Given the description of an element on the screen output the (x, y) to click on. 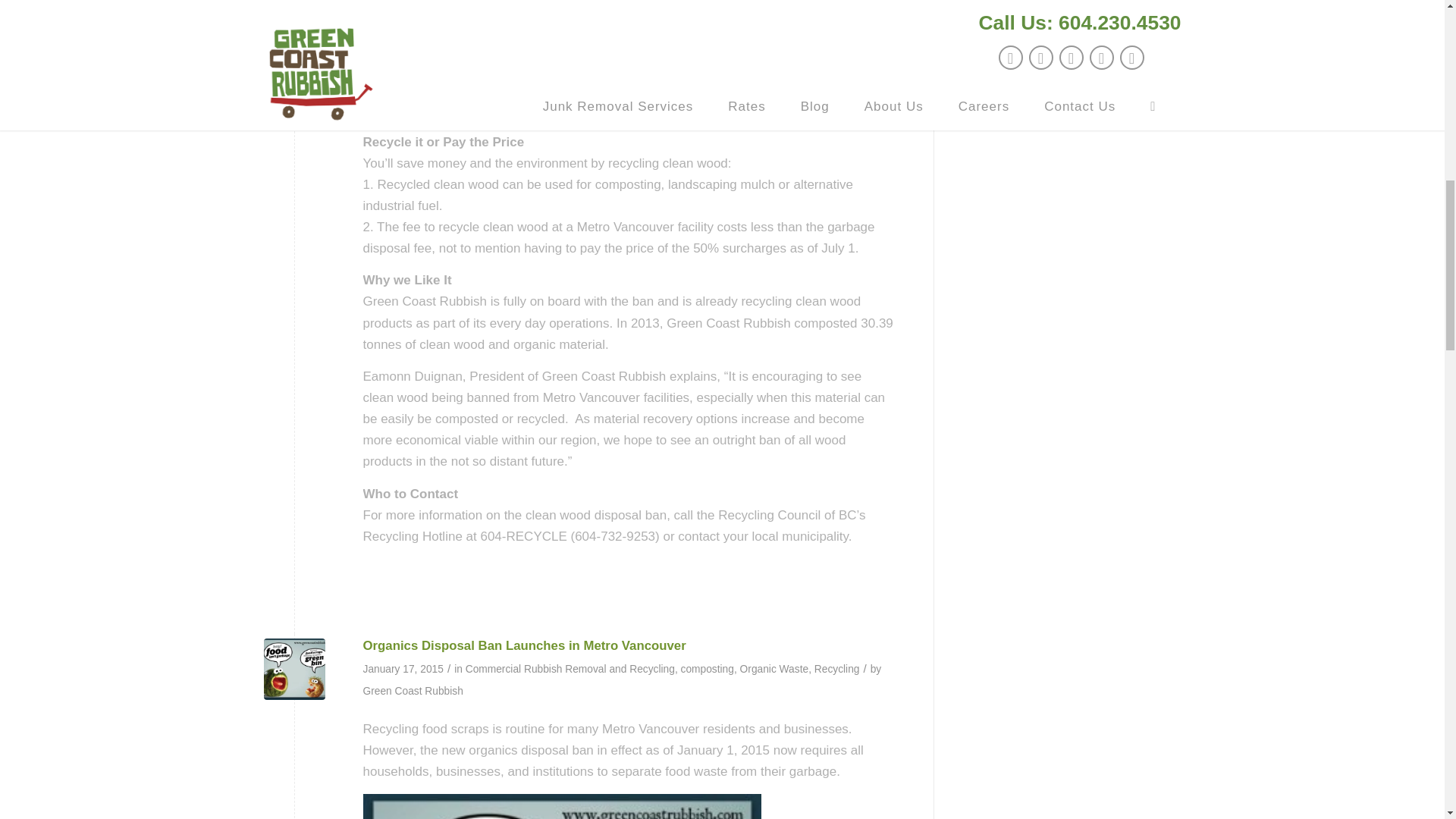
Posts by Green Coast Rubbish (412, 690)
Green Coast Rubbish Organics Disposal Ban 2015 (293, 669)
